Given the description of an element on the screen output the (x, y) to click on. 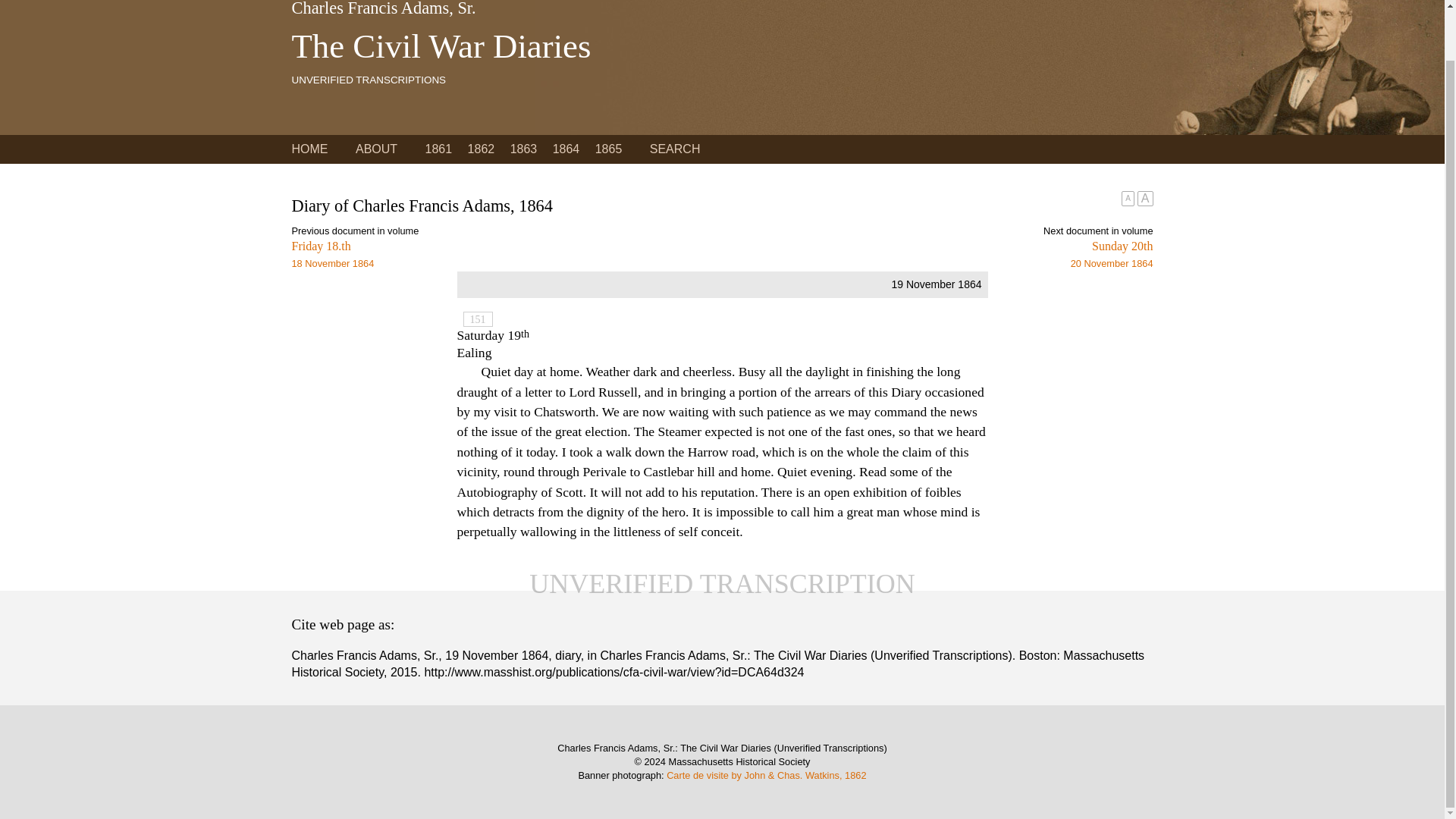
Manuscript page break (477, 319)
1863 (523, 149)
1861 (438, 149)
ABOUT (376, 149)
SEARCH (674, 149)
1862 (480, 149)
1865 (608, 149)
1864 (566, 149)
